Given the description of an element on the screen output the (x, y) to click on. 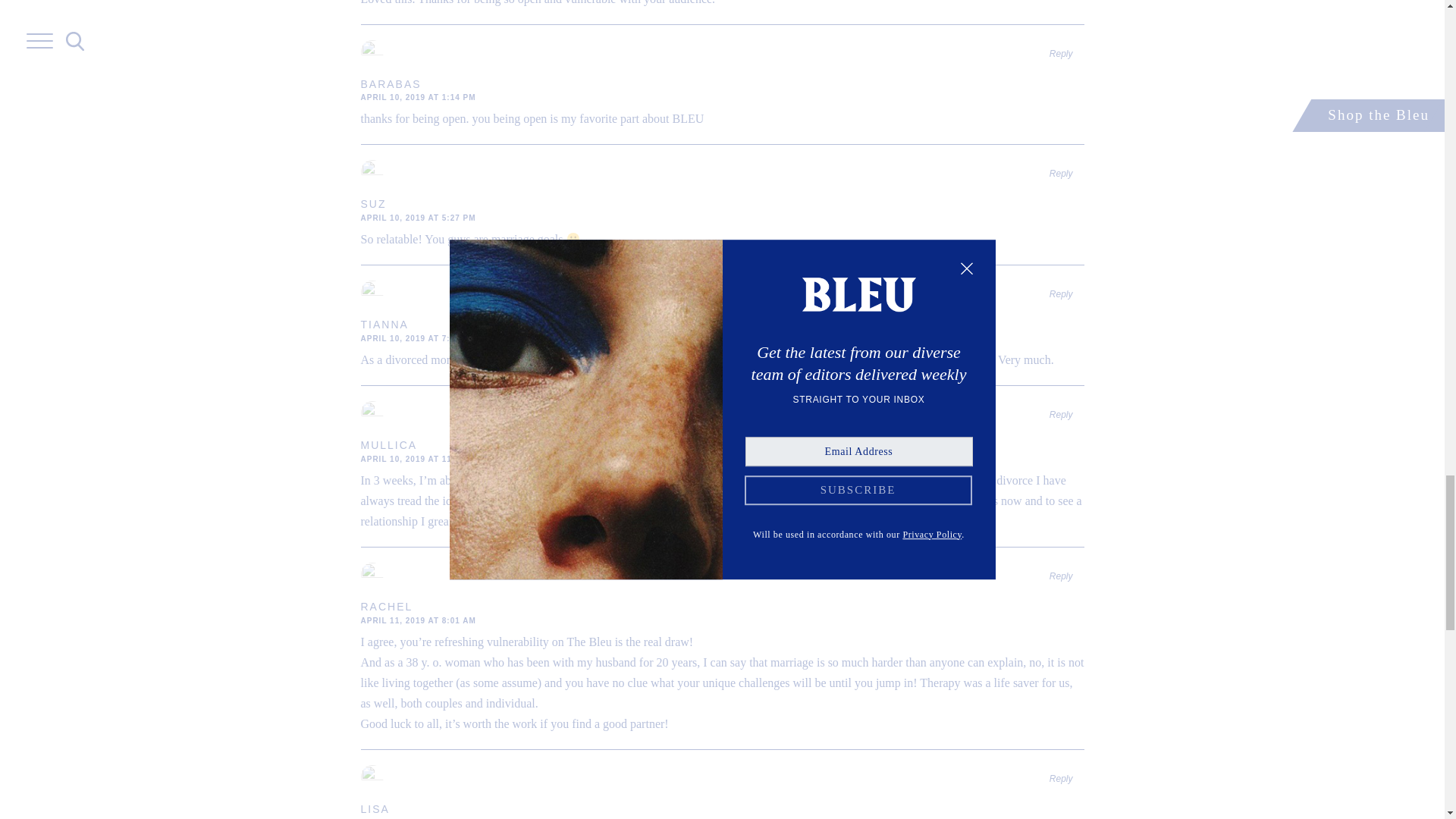
Reply (1061, 414)
Reply (1061, 294)
Reply (1061, 53)
LISA (375, 808)
Reply (1061, 173)
Reply (1061, 778)
Reply (1061, 575)
